Given the description of an element on the screen output the (x, y) to click on. 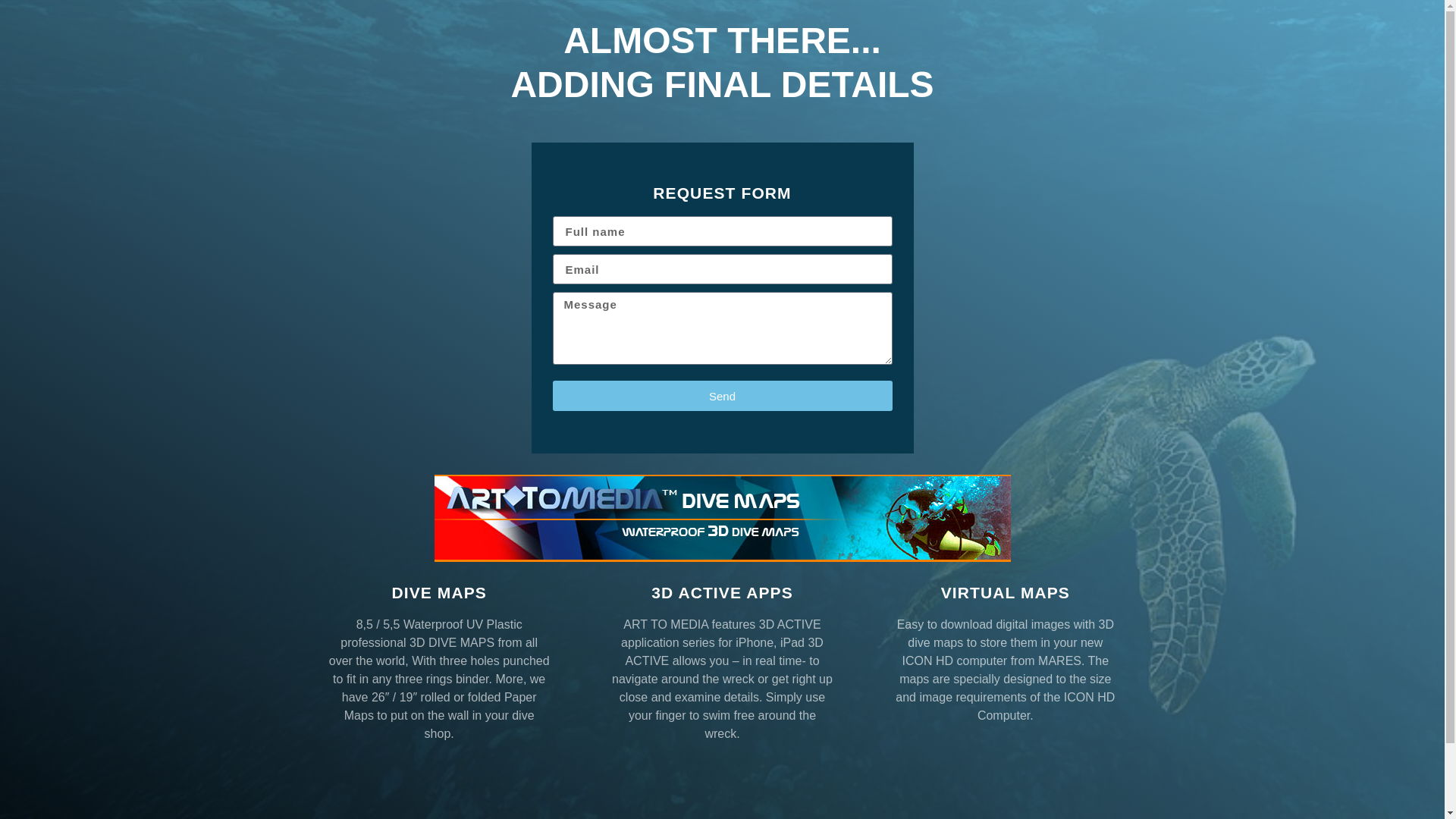
Send (721, 395)
